Given the description of an element on the screen output the (x, y) to click on. 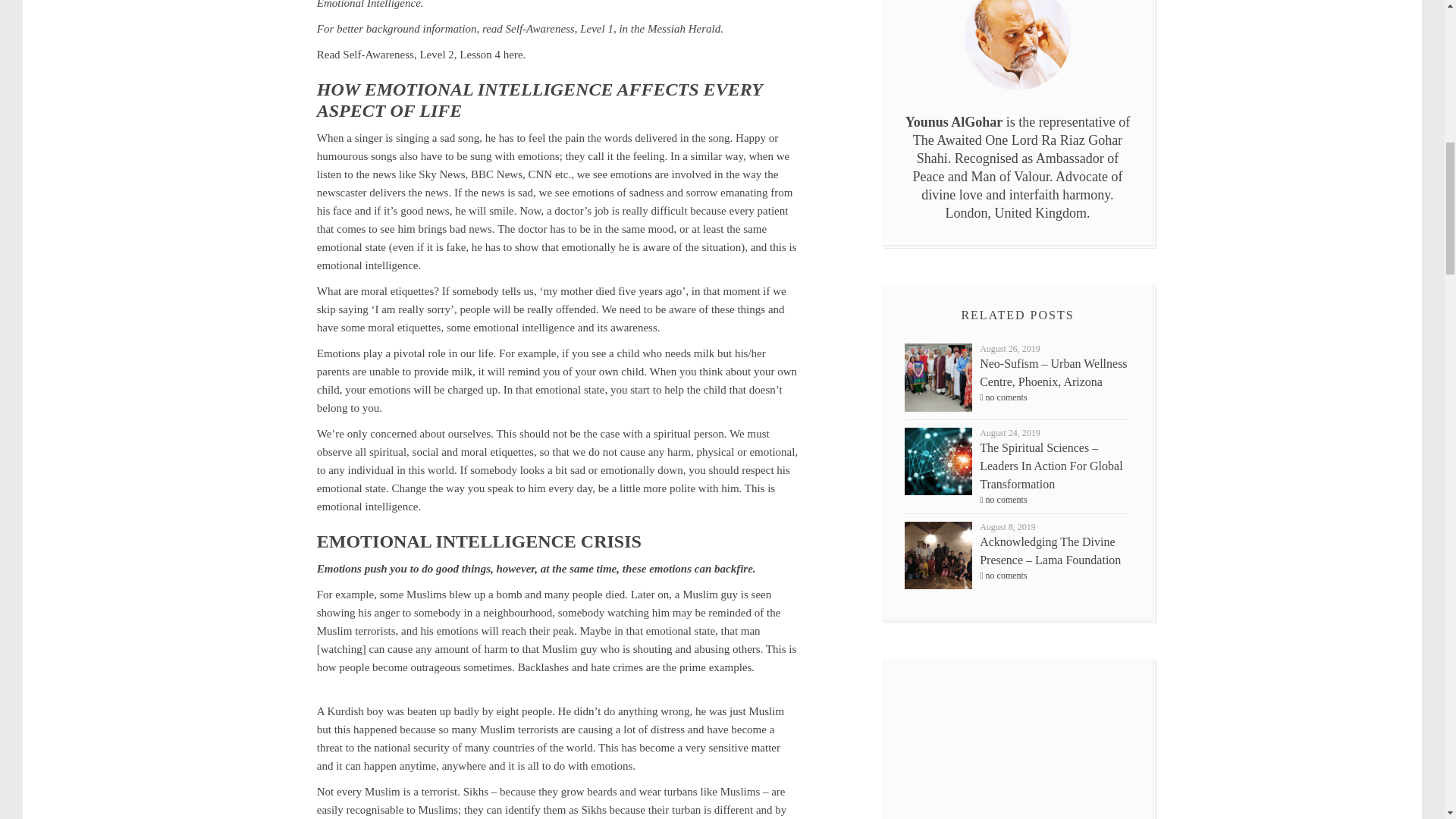
Read Self-Awareness, Level 2, Lesson 4 here. (421, 54)
Search (918, 414)
